Given the description of an element on the screen output the (x, y) to click on. 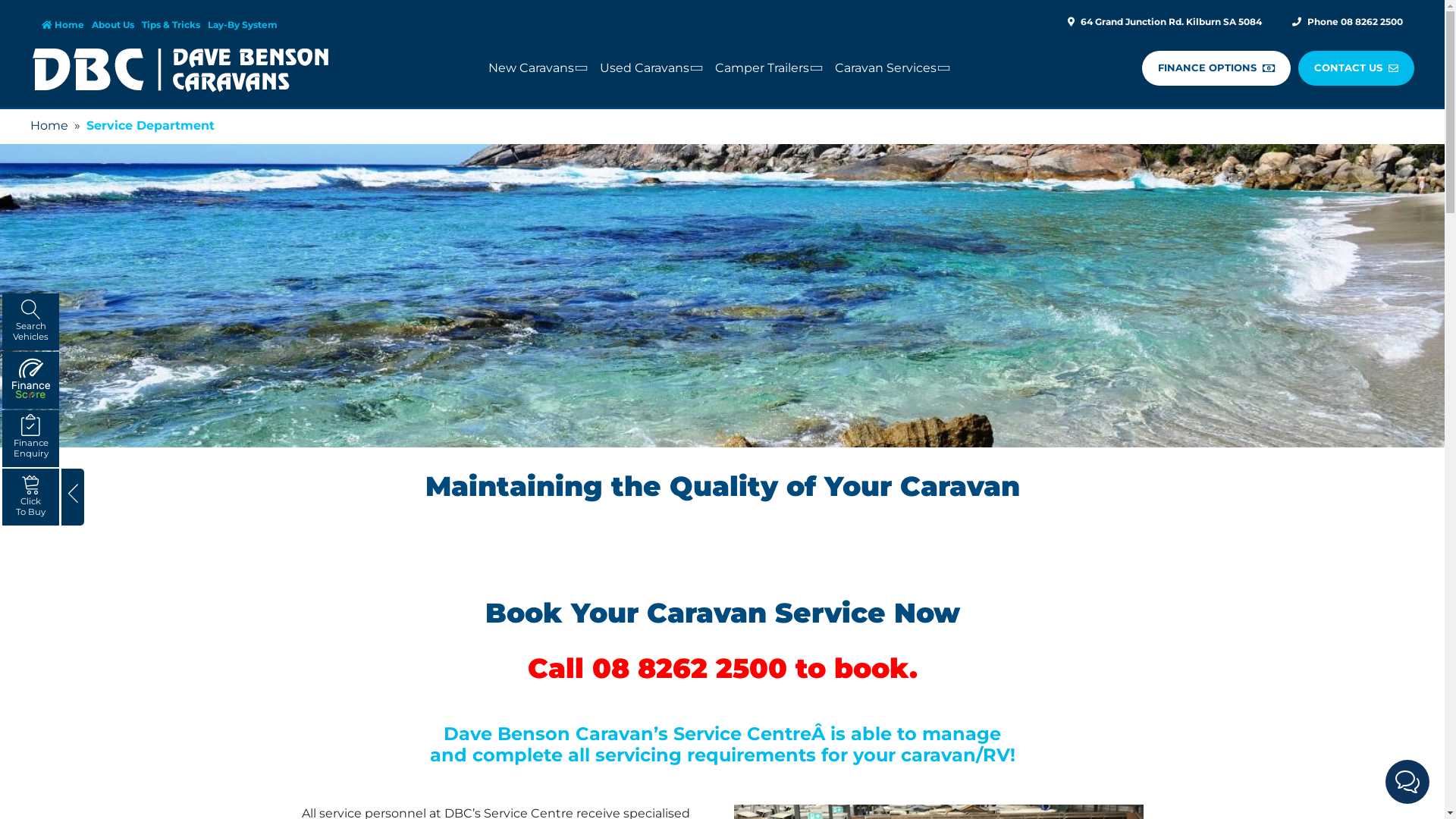
Click
To Buy Element type: text (30, 496)
FINANCE OPTIONS   Element type: text (1216, 67)
Home Element type: text (66, 24)
Search
Vehicles Element type: text (30, 321)
64 Grand Junction Rd. Kilburn SA 5084 Element type: text (1164, 24)
Finance
Enquiry Element type: text (30, 438)
Dave Benson Caravans Element type: hover (181, 67)
Phone 08 8262 2500 Element type: text (1347, 24)
Home Element type: text (49, 125)
Tips & Tricks Element type: text (174, 24)
About Us Element type: text (116, 24)
CONTACT US   Element type: text (1356, 67)
Lay-By System Element type: text (246, 24)
